Given the description of an element on the screen output the (x, y) to click on. 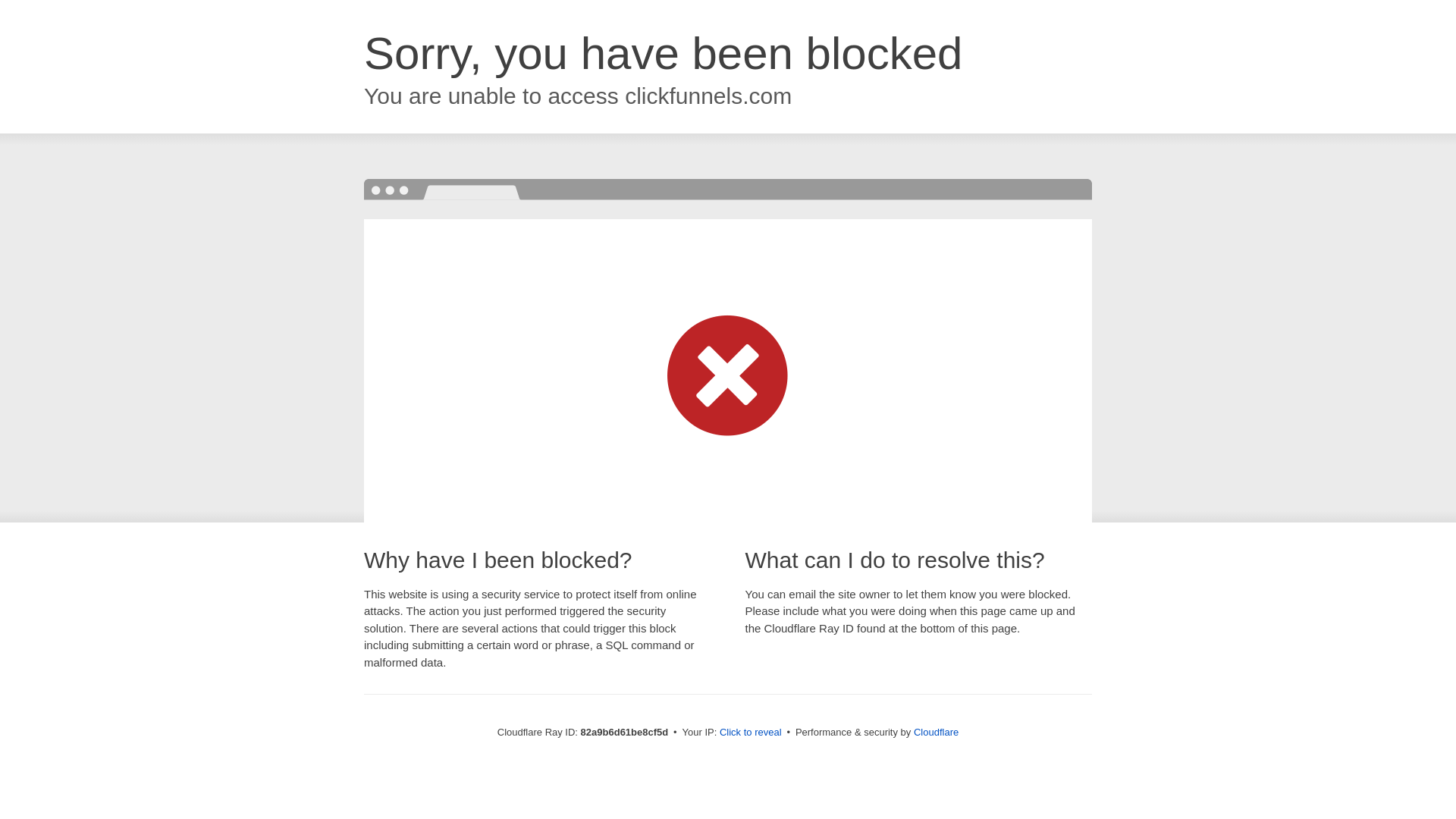
Cloudflare Element type: text (935, 731)
Click to reveal Element type: text (750, 732)
